Given the description of an element on the screen output the (x, y) to click on. 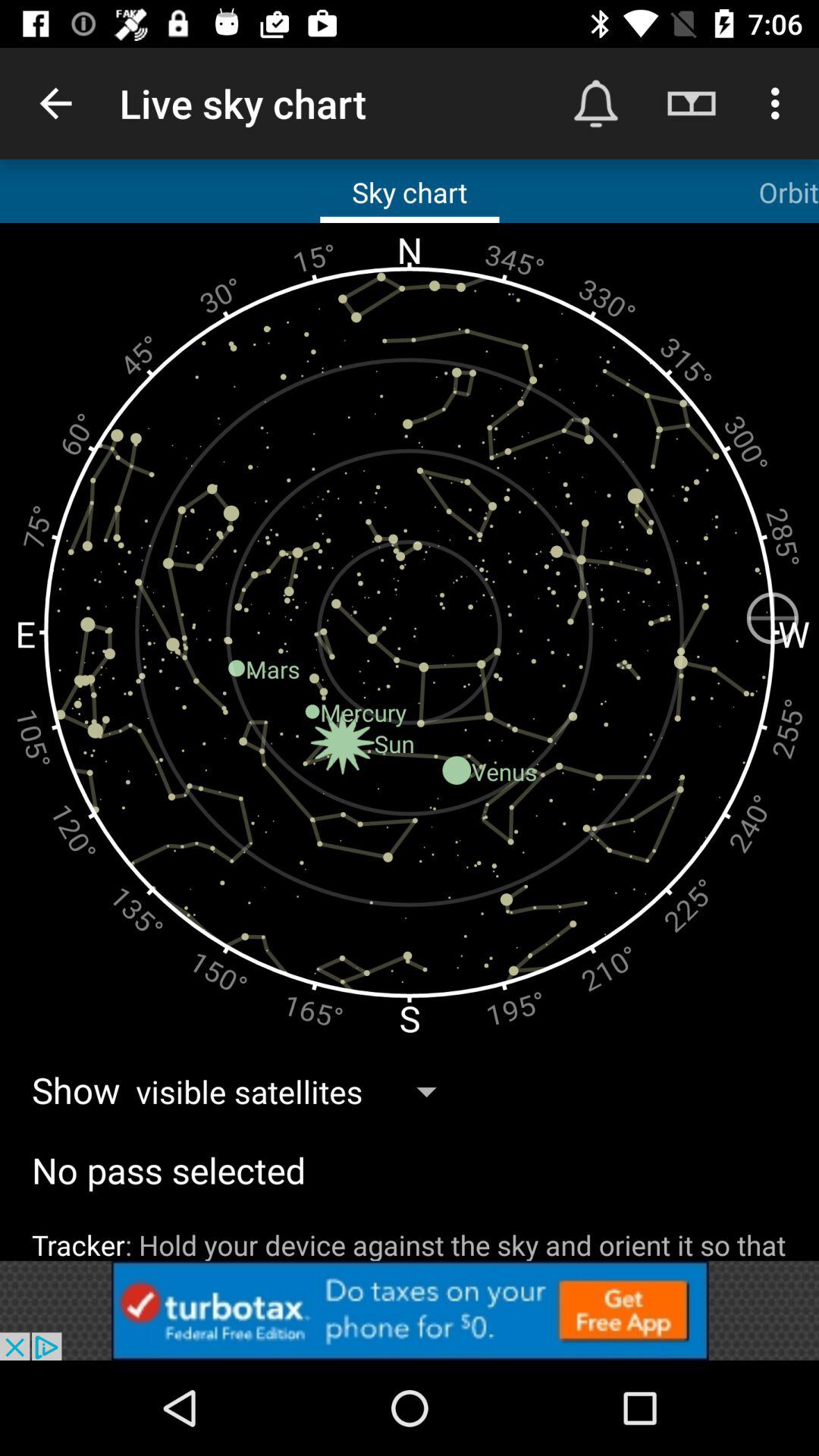
go to this advertised product (409, 1310)
